Given the description of an element on the screen output the (x, y) to click on. 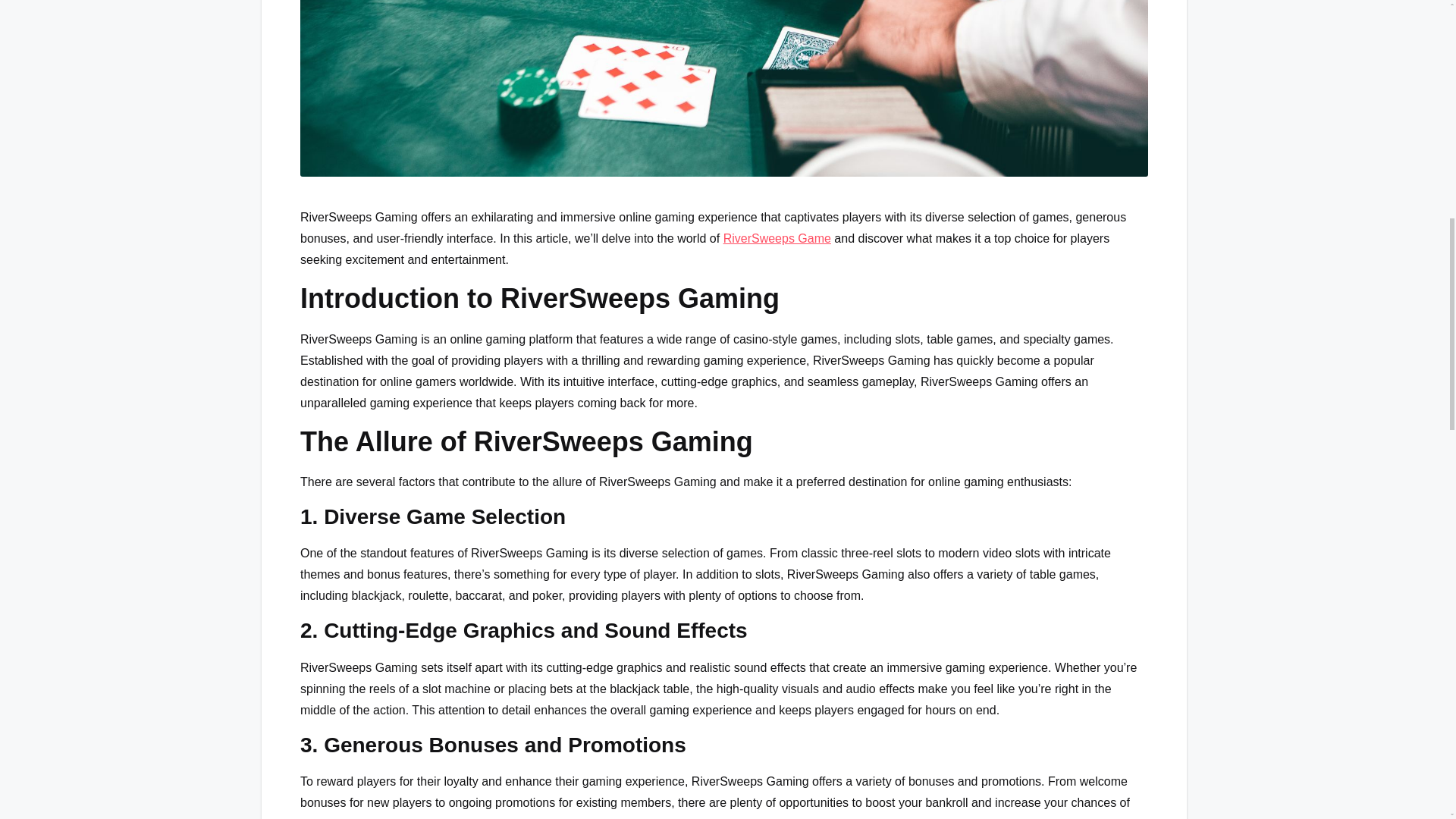
RiverSweeps Game (777, 237)
